Given the description of an element on the screen output the (x, y) to click on. 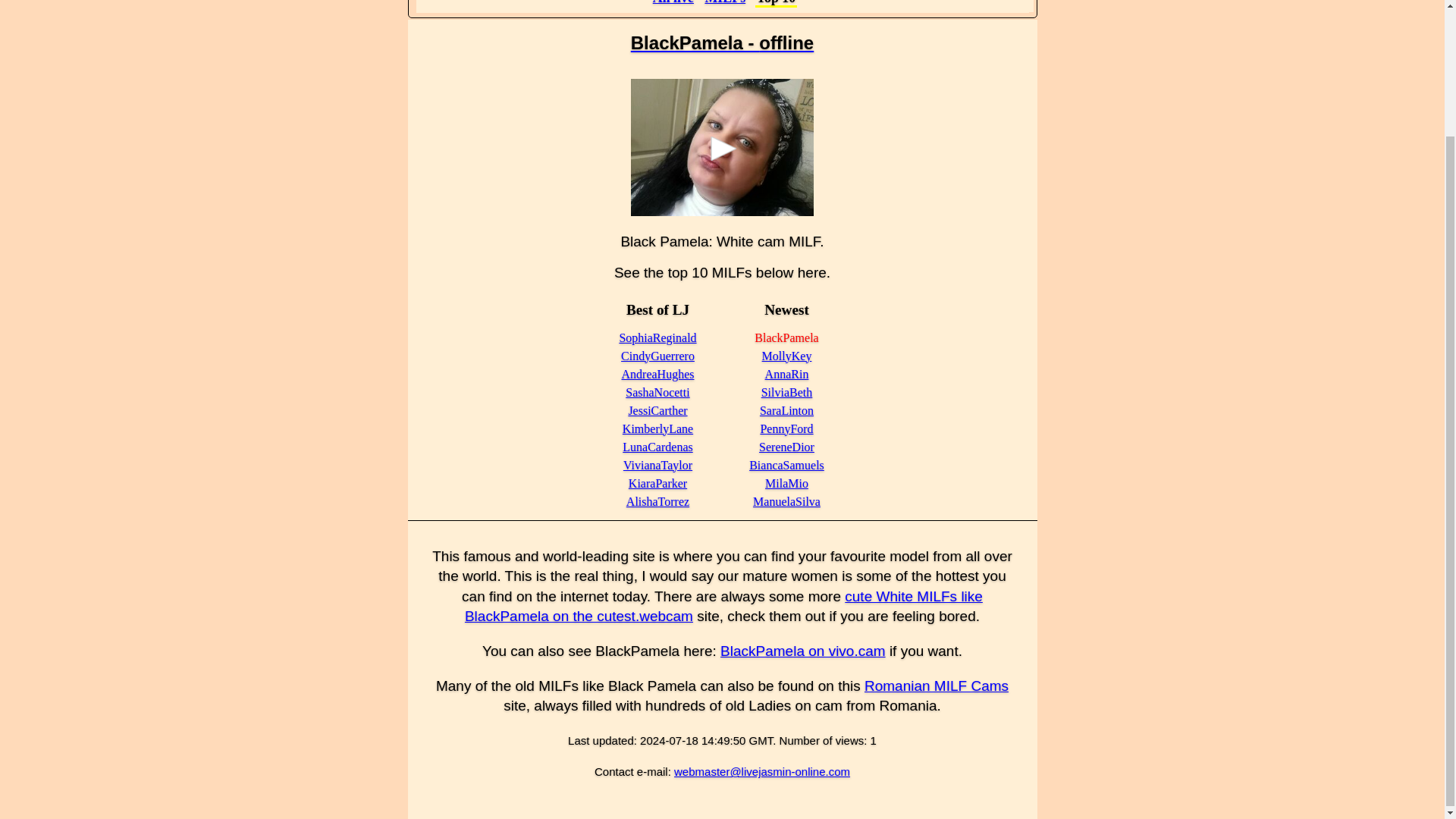
JessiCarther (657, 410)
MilaMio (786, 482)
Romanian MILF Cams (936, 685)
SilviaBeth (786, 391)
LunaCardenas (658, 446)
SereneDior (785, 446)
CindyGuerrero (657, 355)
Top 10 (776, 3)
BiancaSamuels (786, 464)
ManuelaSilva (786, 501)
SophiaReginald (656, 337)
KiaraParker (657, 482)
VivianaTaylor (658, 464)
AlishaTorrez (657, 501)
all MILFs online now. (724, 2)
